Given the description of an element on the screen output the (x, y) to click on. 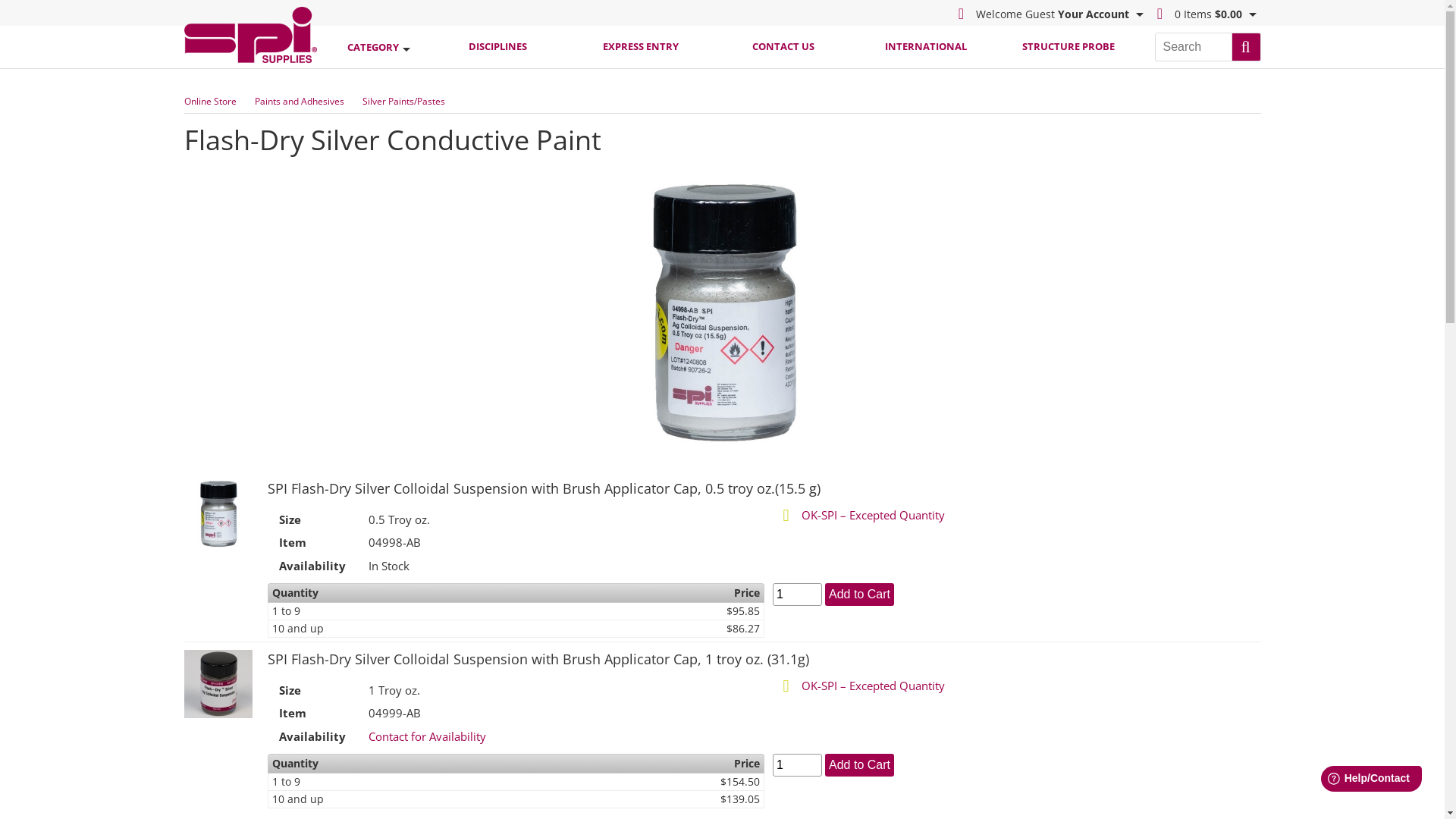
0 Items $0.00 Element type: text (1204, 12)
EXPRESS ENTRY Element type: text (639, 46)
INTERNATIONAL Element type: text (924, 46)
SPI Supplies logo Element type: hover (249, 34)
Contact for Availability Element type: text (427, 735)
Online Store Element type: text (209, 100)
DISCIPLINES Element type: text (497, 46)
CATEGORY Element type: text (378, 46)
Click to expand Element type: hover (217, 683)
CONTACT US Element type: text (782, 46)
Silver Paints/Pastes Element type: text (403, 100)
Paints and Adhesives Element type: text (299, 100)
STRUCTURE PROBE Element type: text (1067, 46)
Add to Cart Element type: text (859, 764)
Welcome Guest Your Account Element type: text (1048, 12)
Add to Cart Element type: text (859, 594)
Click to expand Element type: hover (217, 513)
